Given the description of an element on the screen output the (x, y) to click on. 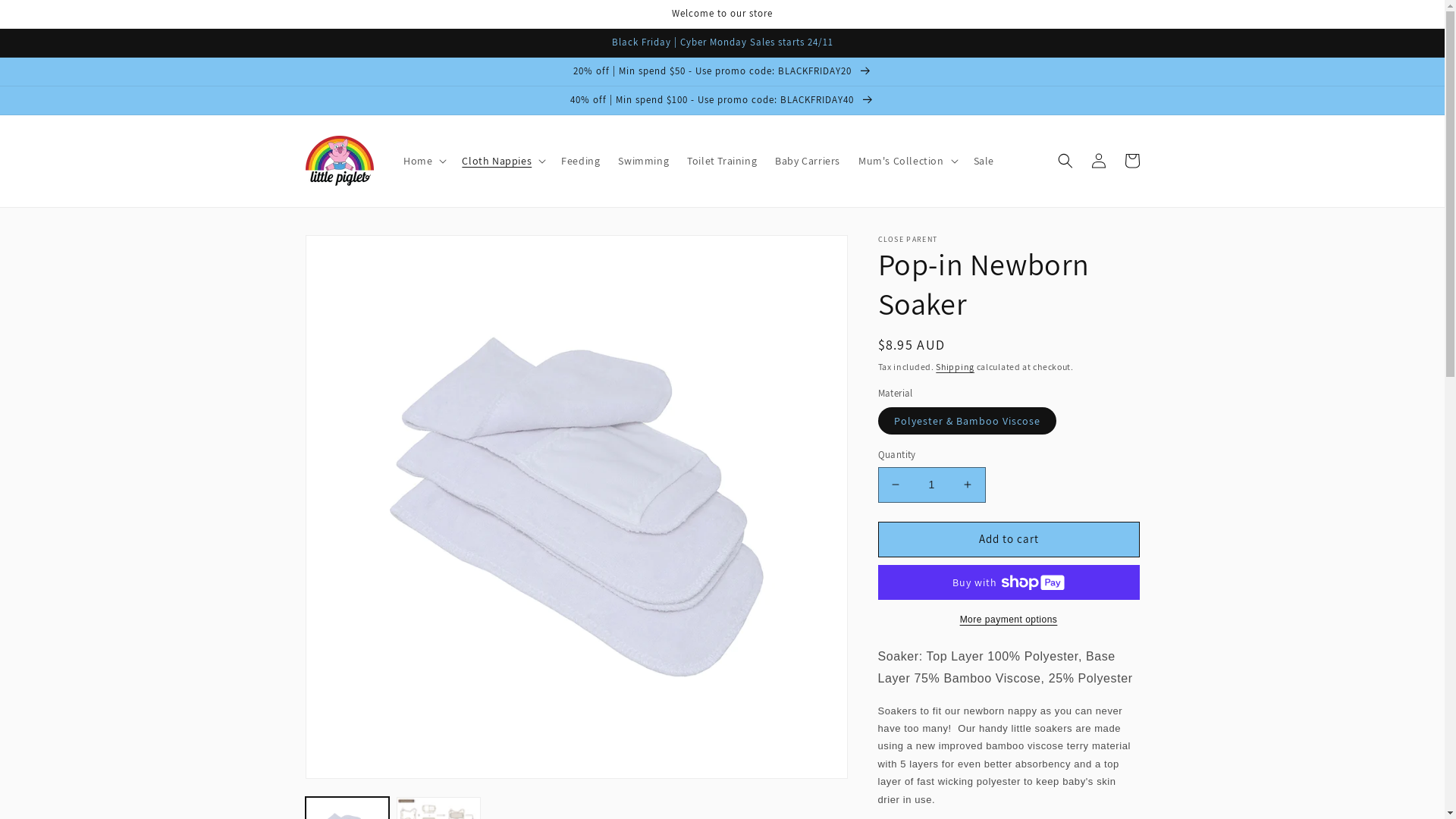
Shipping Element type: text (954, 366)
20% off | Min spend $50 - Use promo code: BLACKFRIDAY20 Element type: text (722, 71)
Add to cart Element type: text (1008, 539)
40% off | Min spend $100 - Use promo code: BLACKFRIDAY40 Element type: text (722, 100)
Swimming Element type: text (642, 160)
Sale Element type: text (983, 160)
Toilet Training Element type: text (721, 160)
Decrease quantity for Pop-in Newborn Soaker Element type: text (895, 484)
Increase quantity for Pop-in Newborn Soaker Element type: text (967, 484)
More payment options Element type: text (1008, 619)
Cart Element type: text (1131, 160)
Skip to product information Element type: text (350, 251)
Log in Element type: text (1097, 160)
Feeding Element type: text (580, 160)
Baby Carriers Element type: text (807, 160)
